Given the description of an element on the screen output the (x, y) to click on. 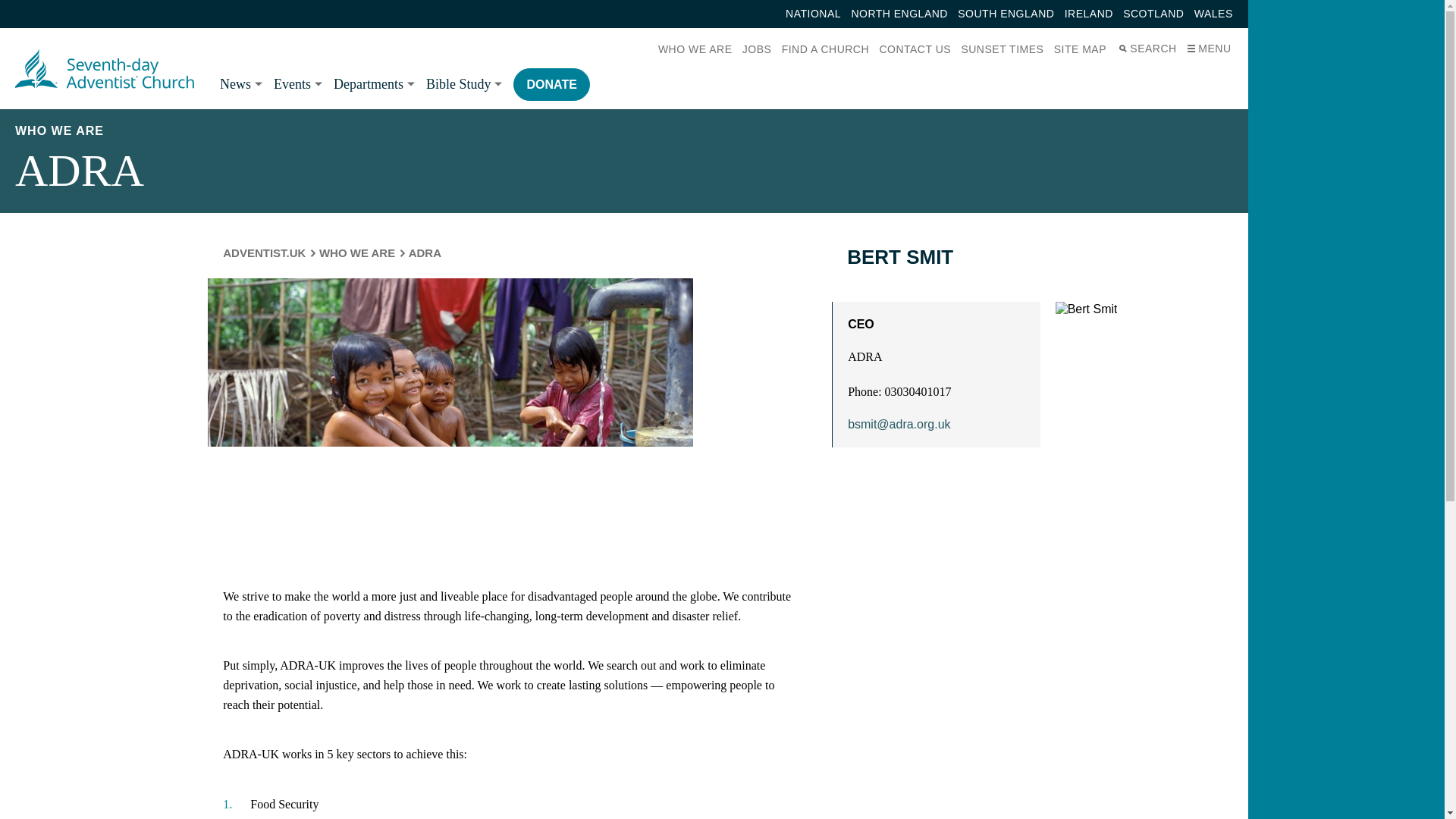
FIND A CHURCH (825, 49)
Who we are (356, 252)
NORTH ENGLAND (899, 13)
MENU (1207, 48)
WALES (1213, 13)
SOUTH ENGLAND (1006, 13)
News (239, 84)
adventist.uk (263, 252)
SUNSET TIMES (1002, 49)
NATIONAL (812, 13)
